Given the description of an element on the screen output the (x, y) to click on. 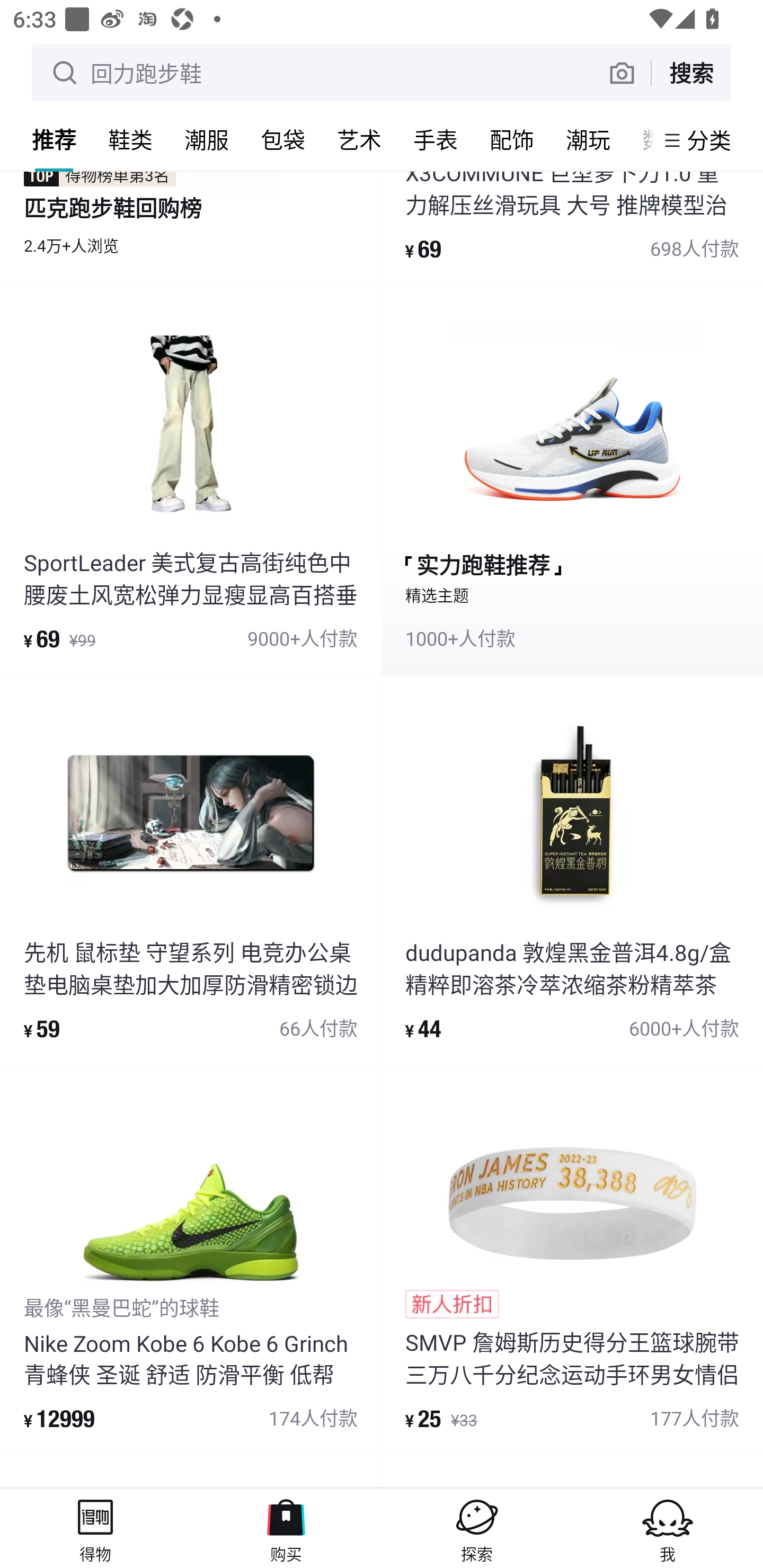
搜索 (690, 72)
推荐 (54, 139)
鞋类 (130, 139)
潮服 (206, 139)
包袋 (282, 139)
艺术 (359, 139)
手表 (435, 139)
配饰 (511, 139)
潮玩 (588, 139)
分类 (708, 139)
实力跑鞋推荐 精选主题 1000+人付款 (572, 479)
得物 (95, 1528)
购买 (285, 1528)
探索 (476, 1528)
我 (667, 1528)
